Given the description of an element on the screen output the (x, y) to click on. 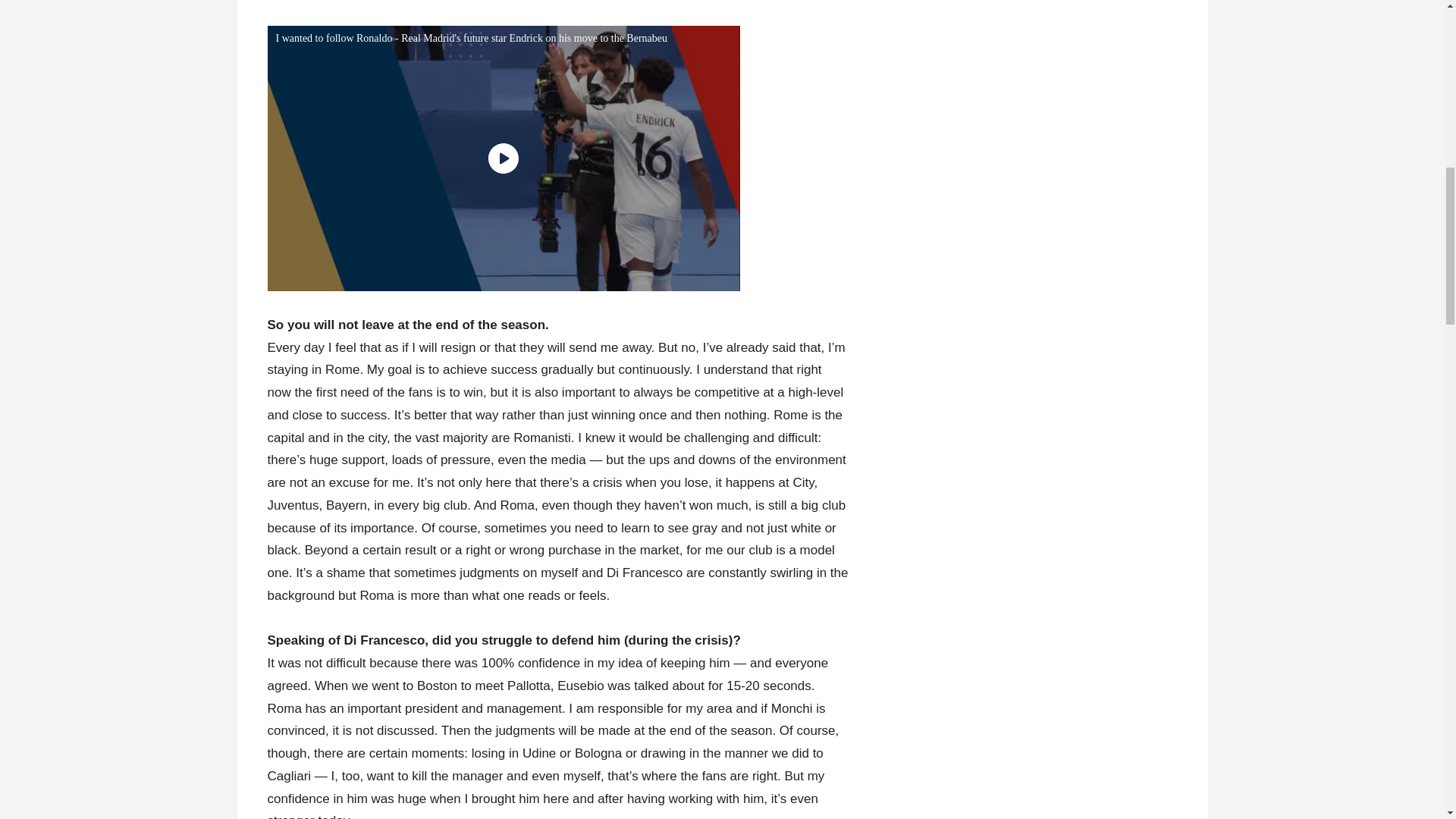
X (1434, 760)
